Given the description of an element on the screen output the (x, y) to click on. 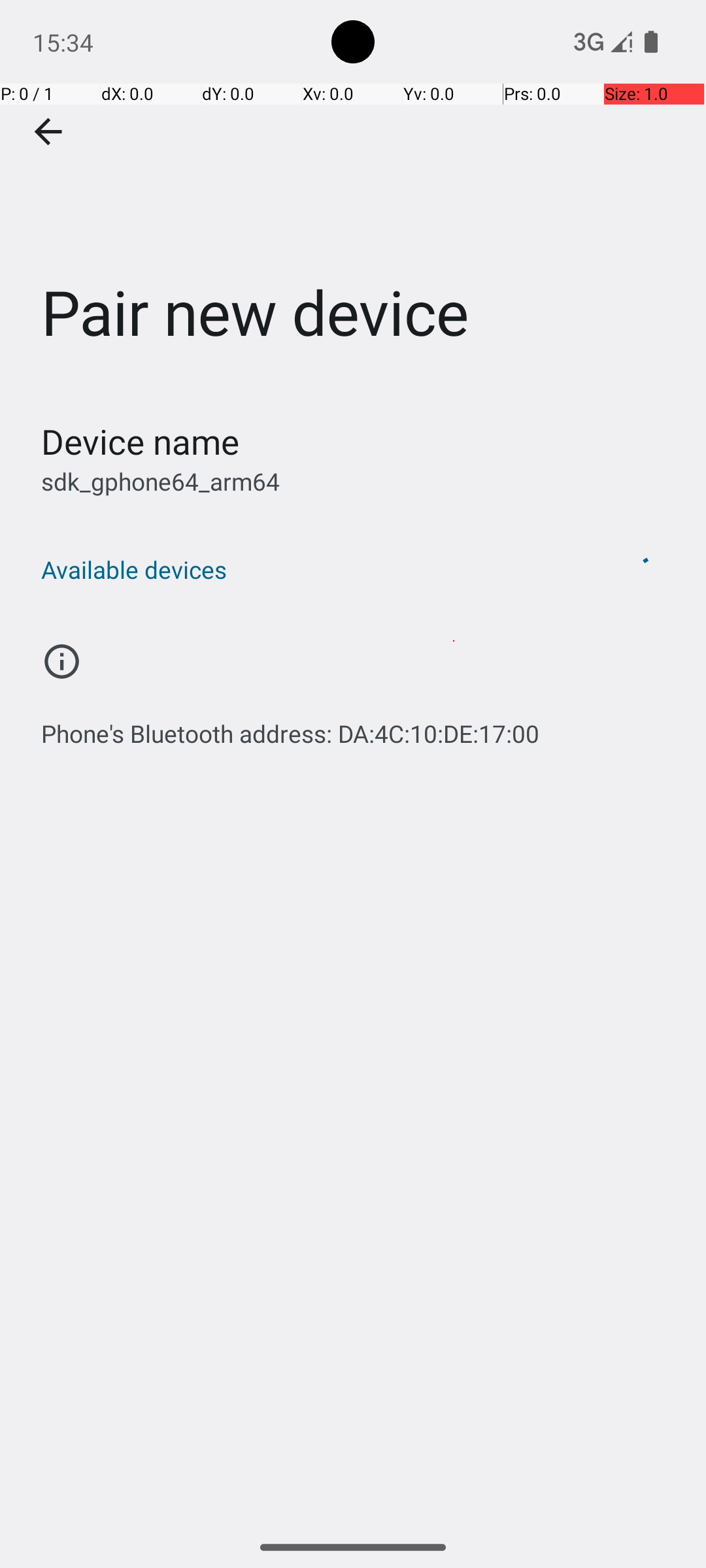
Available devices Element type: android.widget.TextView (318, 569)
Phone's Bluetooth address: DA:4C:10:DE:17:00 Element type: android.widget.TextView (290, 726)
